Given the description of an element on the screen output the (x, y) to click on. 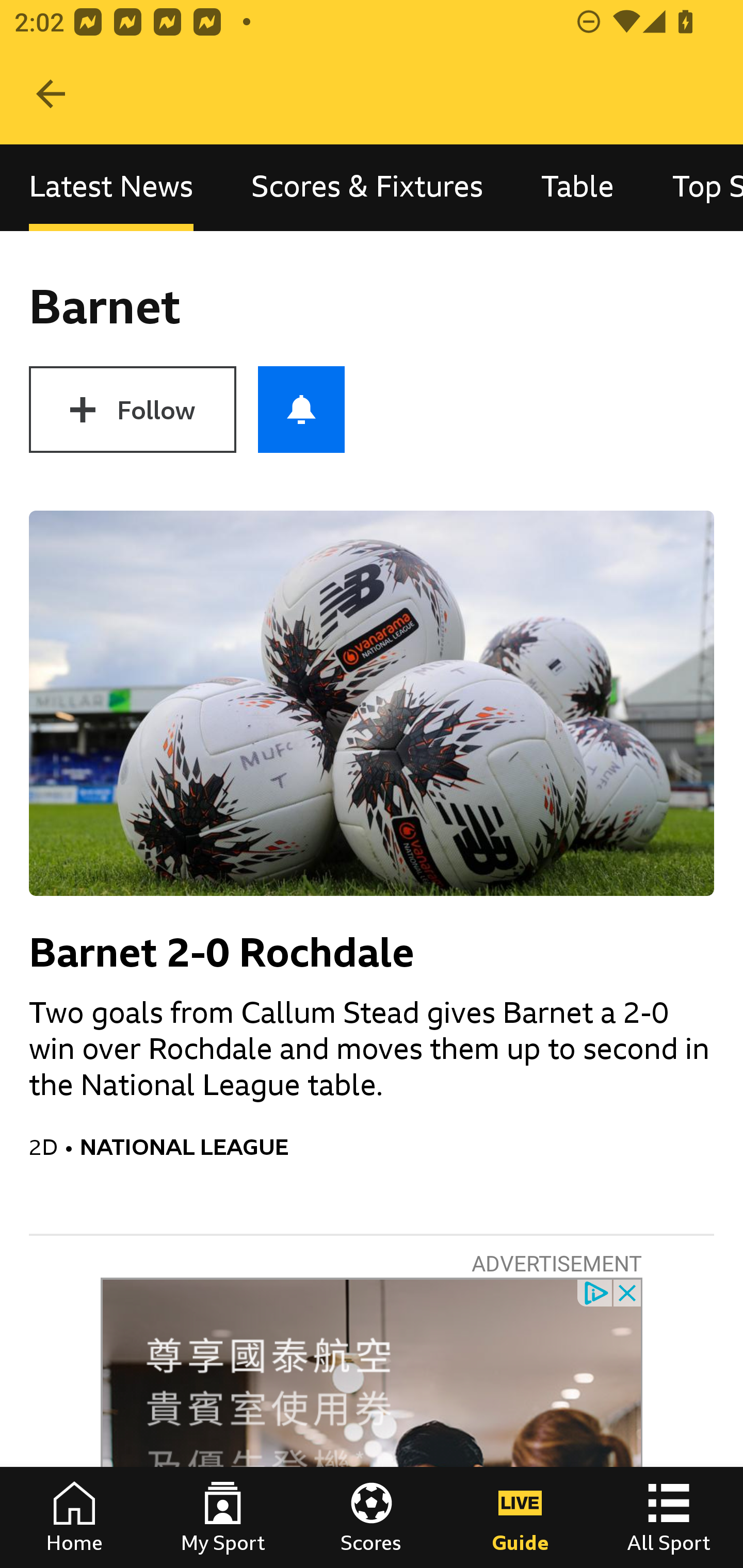
Navigate up (50, 93)
Latest News, selected Latest News (111, 187)
Scores & Fixtures (367, 187)
Table (577, 187)
Follow Barnet Follow (132, 409)
Push notifications for Barnet (300, 409)
NATIONAL LEAGUE In the section National League (397, 1146)
privacy_small (595, 1291)
close_button (627, 1291)
Home (74, 1517)
My Sport (222, 1517)
Scores (371, 1517)
All Sport (668, 1517)
